Given the description of an element on the screen output the (x, y) to click on. 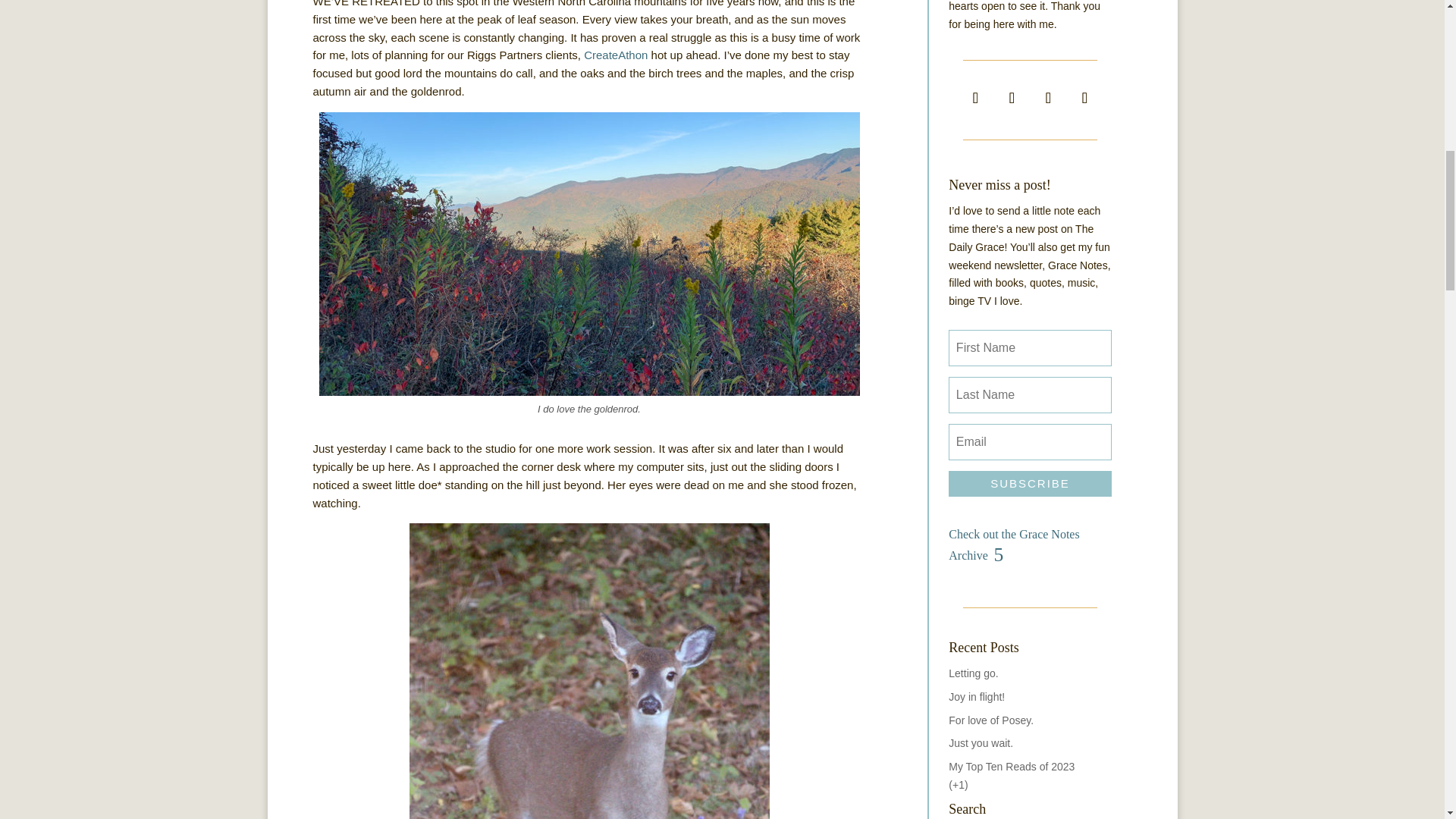
Follow on Facebook (974, 97)
Check out the Grace Notes Archive (1029, 543)
Follow on Pinterest (1083, 97)
Follow on Instagram (1047, 97)
For love of Posey. (991, 720)
Just you wait. (981, 743)
CreateAthon (615, 54)
Follow on X (1010, 97)
SUBSCRIBE (1029, 483)
Letting go. (973, 673)
Joy in flight! (976, 696)
